Given the description of an element on the screen output the (x, y) to click on. 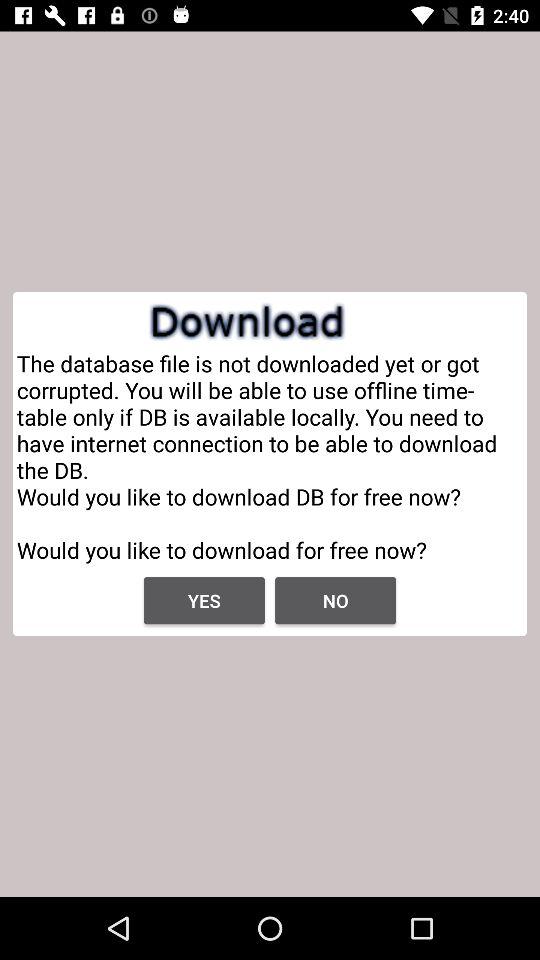
press the button next to yes item (335, 600)
